Given the description of an element on the screen output the (x, y) to click on. 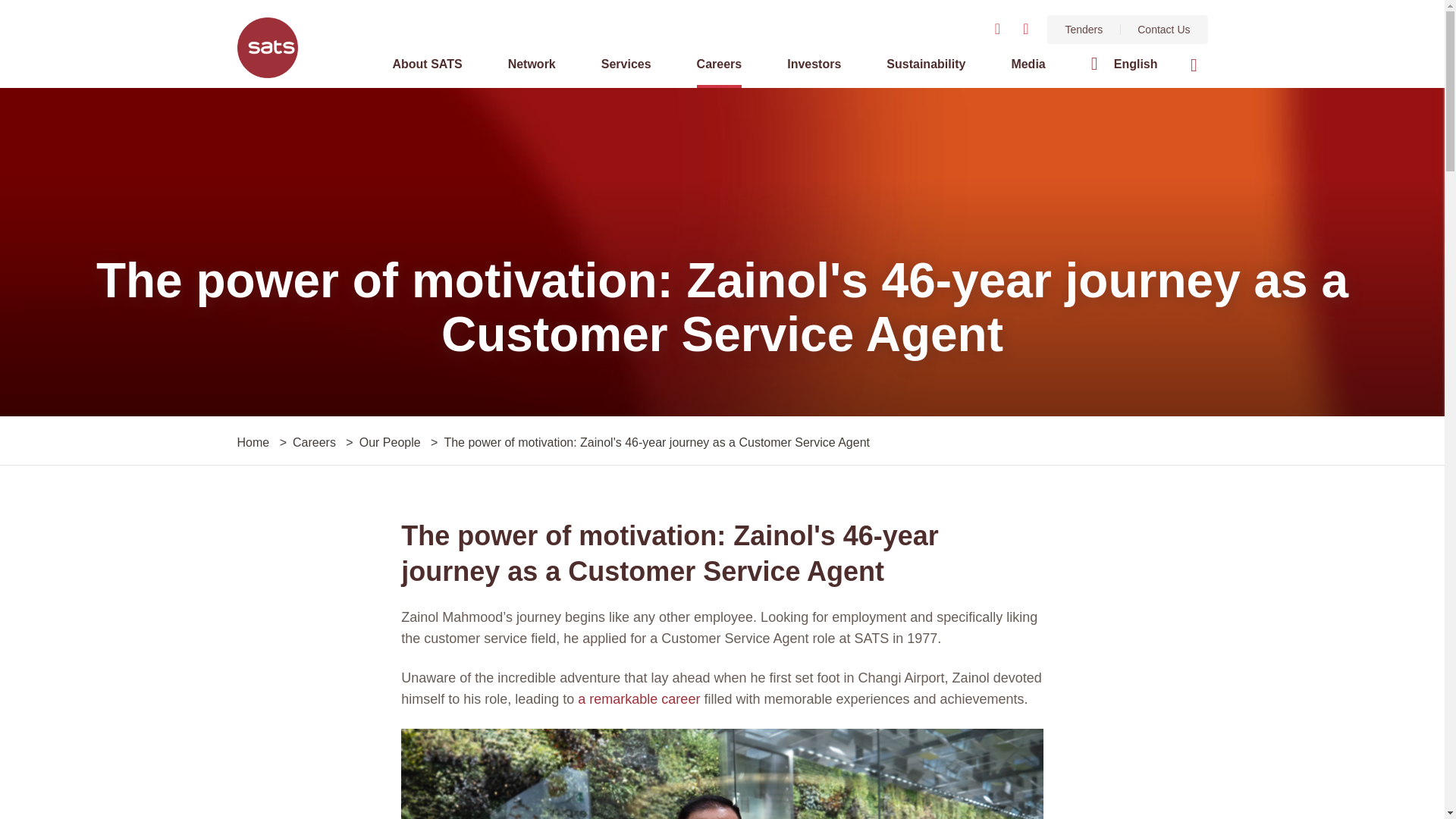
Network (532, 69)
Investors (814, 69)
Services (625, 69)
Contact Us (1163, 29)
Search (1193, 64)
Tenders (1082, 29)
About SATS (426, 69)
Careers (719, 69)
